Given the description of an element on the screen output the (x, y) to click on. 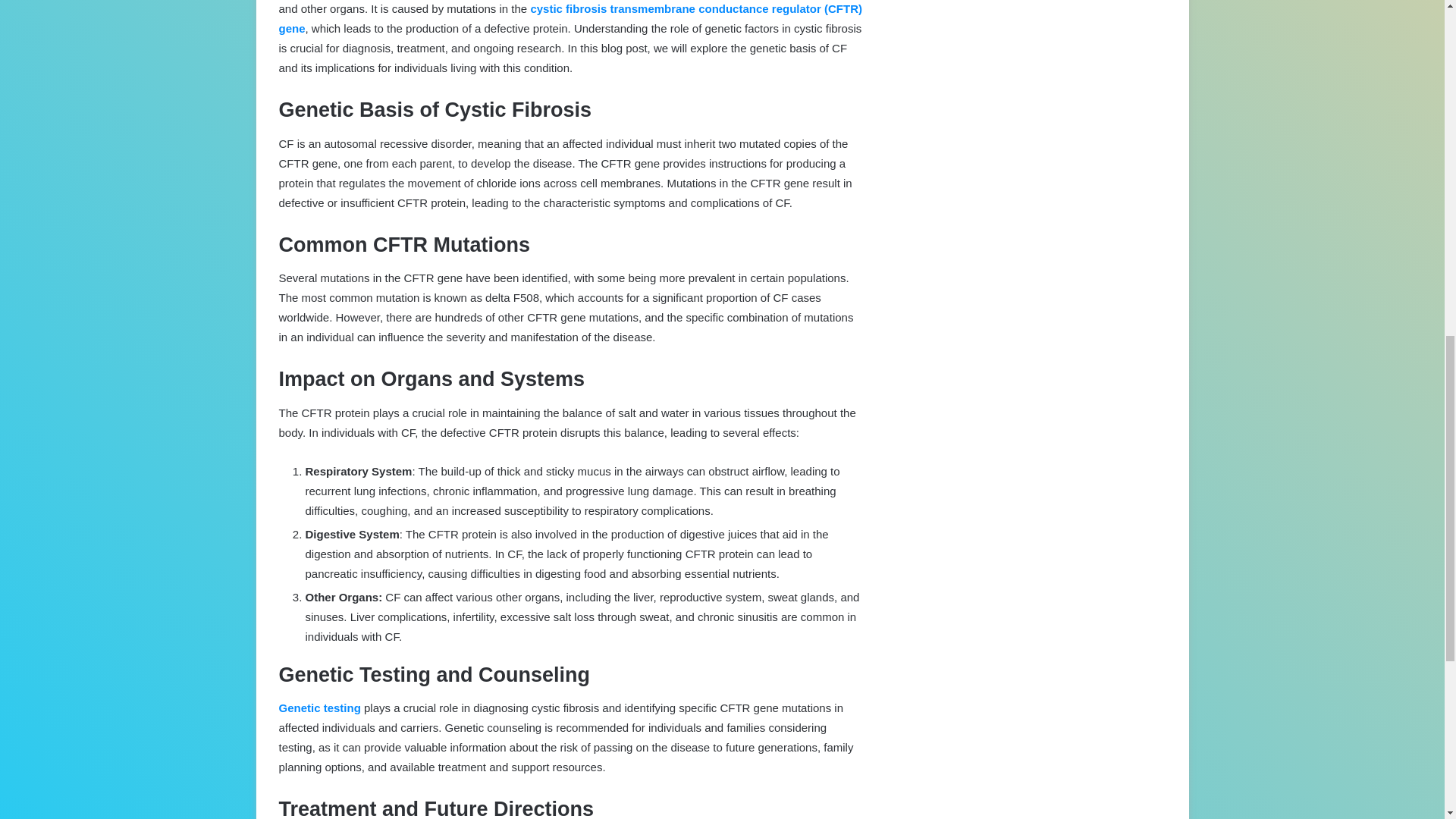
Genetic testing (320, 707)
